Given the description of an element on the screen output the (x, y) to click on. 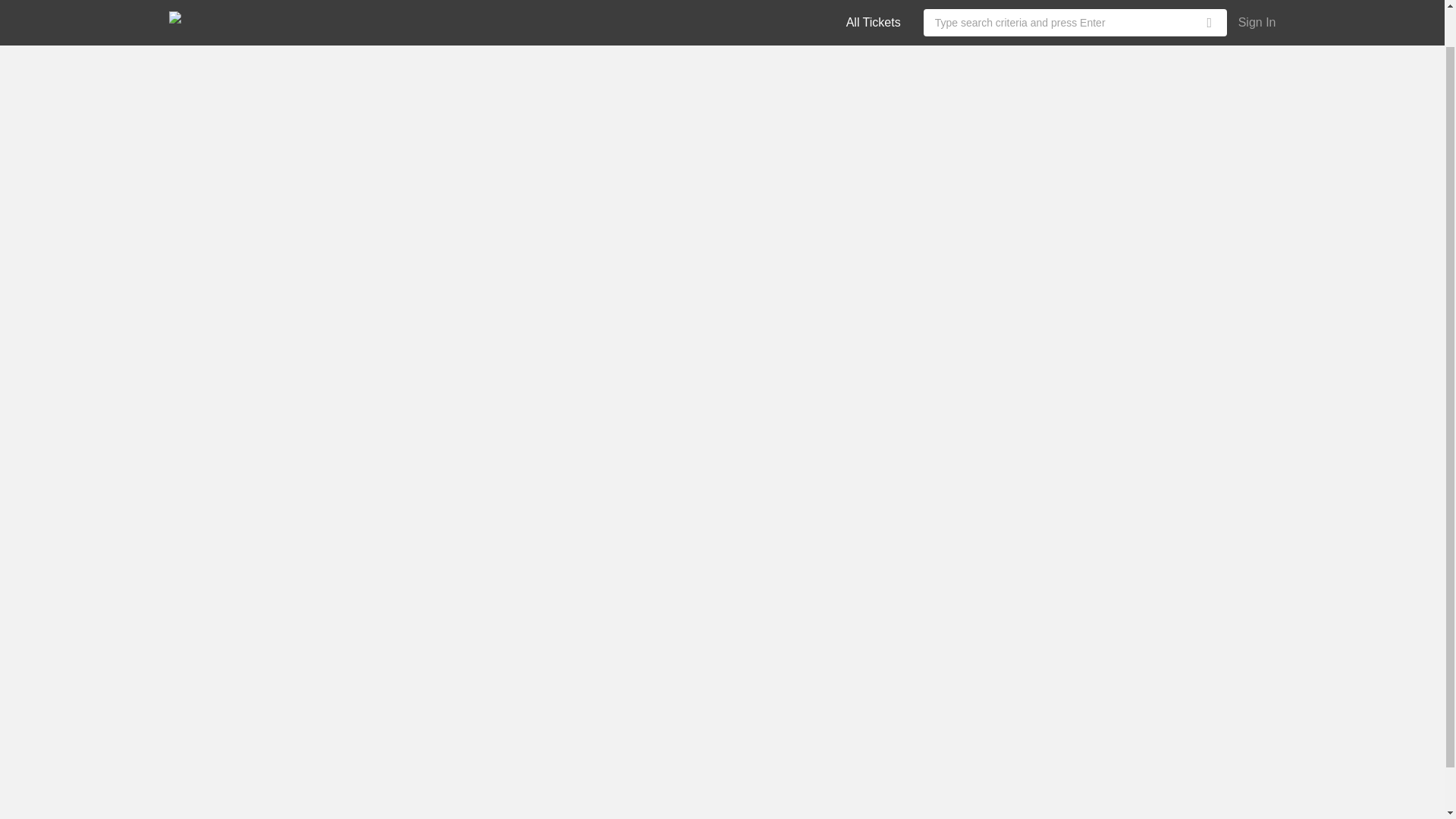
Sign In (1257, 2)
